Given the description of an element on the screen output the (x, y) to click on. 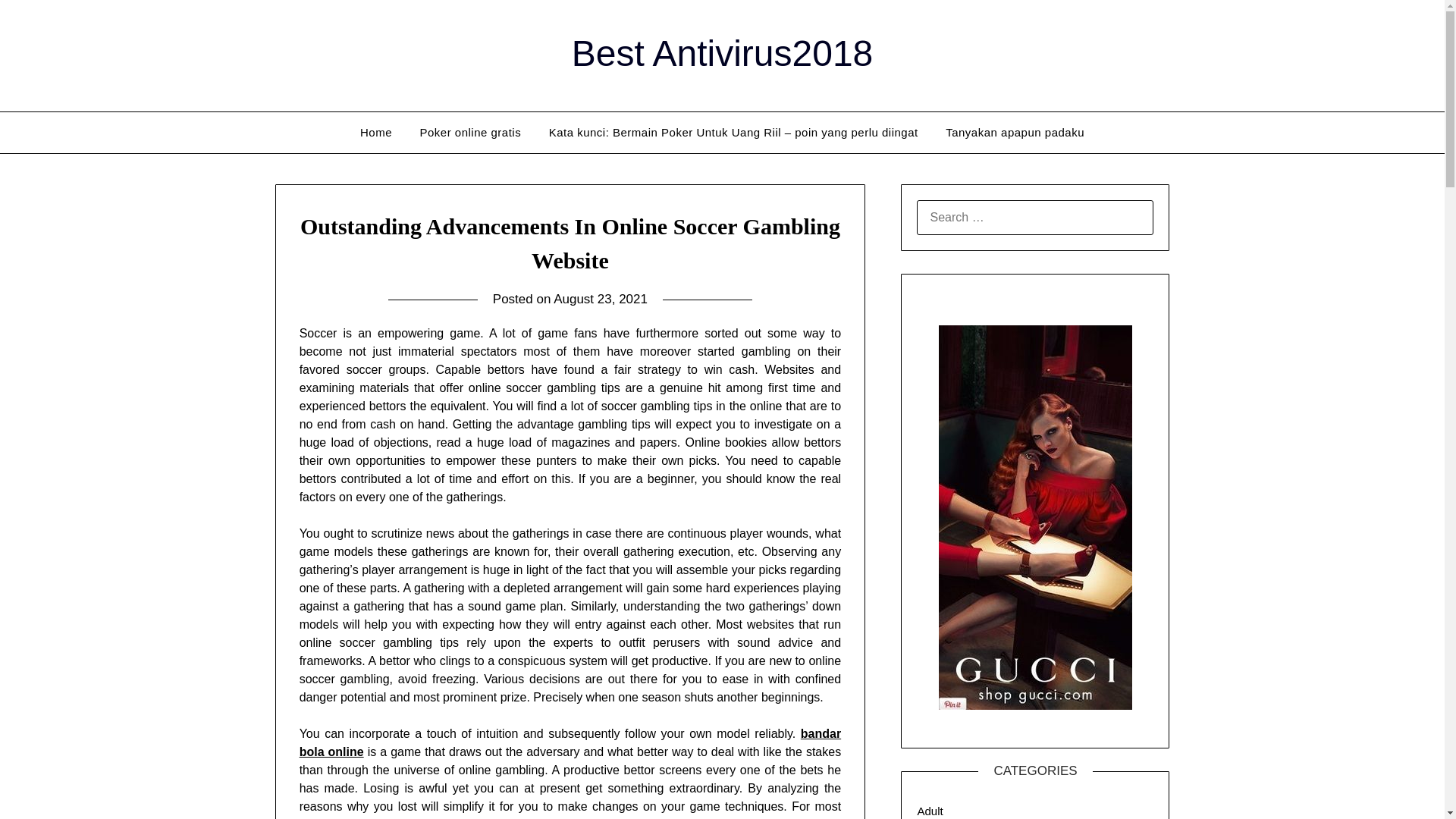
Home (375, 132)
Search (38, 22)
Best Antivirus2018 (722, 53)
Poker online gratis (469, 132)
August 23, 2021 (600, 298)
Tanyakan apapun padaku (1014, 132)
Adult (929, 810)
bandar bola online (570, 742)
